Given the description of an element on the screen output the (x, y) to click on. 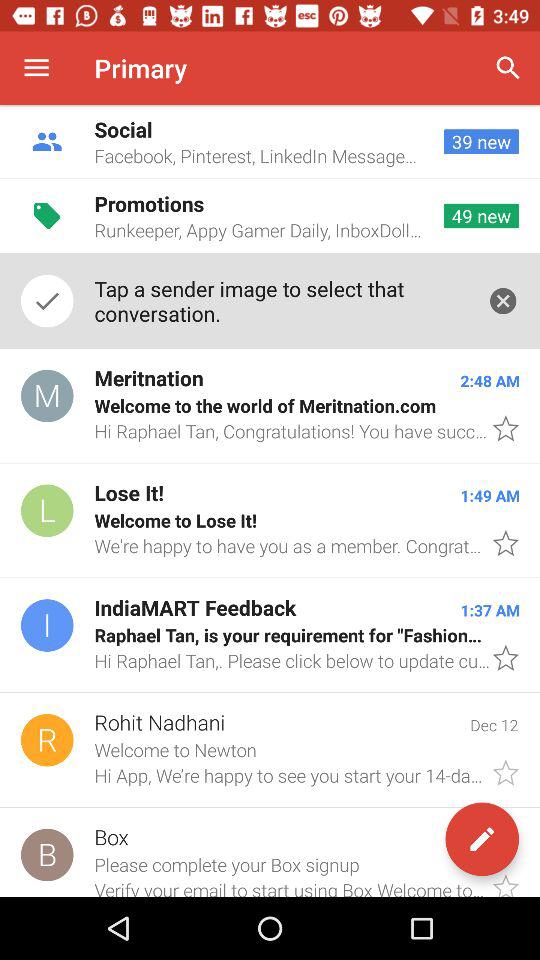
press the icon at the bottom right corner (482, 839)
